Given the description of an element on the screen output the (x, y) to click on. 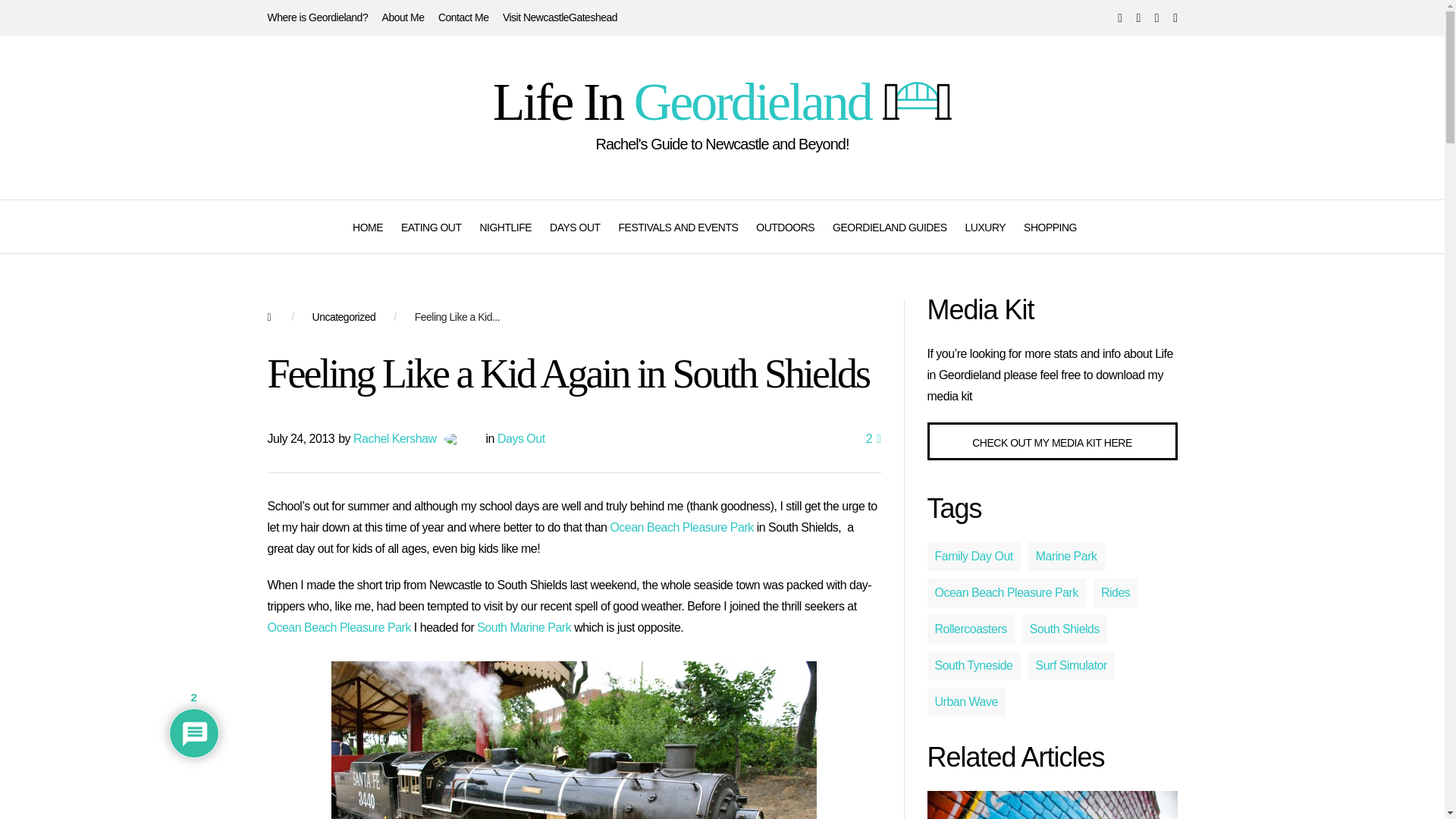
Where is Geordieland? (317, 17)
2 (873, 438)
Uncategorized (344, 316)
Home (367, 225)
Geordieland Guides (889, 225)
Visit NewcastleGateshead (559, 17)
Nightlife (505, 225)
Outdoors (784, 225)
Contact Me (463, 17)
Ocean Beach Pleasure Park (681, 526)
Category Name (344, 316)
Days Out (520, 438)
South Marine Park (523, 626)
Feeling Like a Kid Again in South Shields (456, 316)
Eating Out (431, 225)
